Given the description of an element on the screen output the (x, y) to click on. 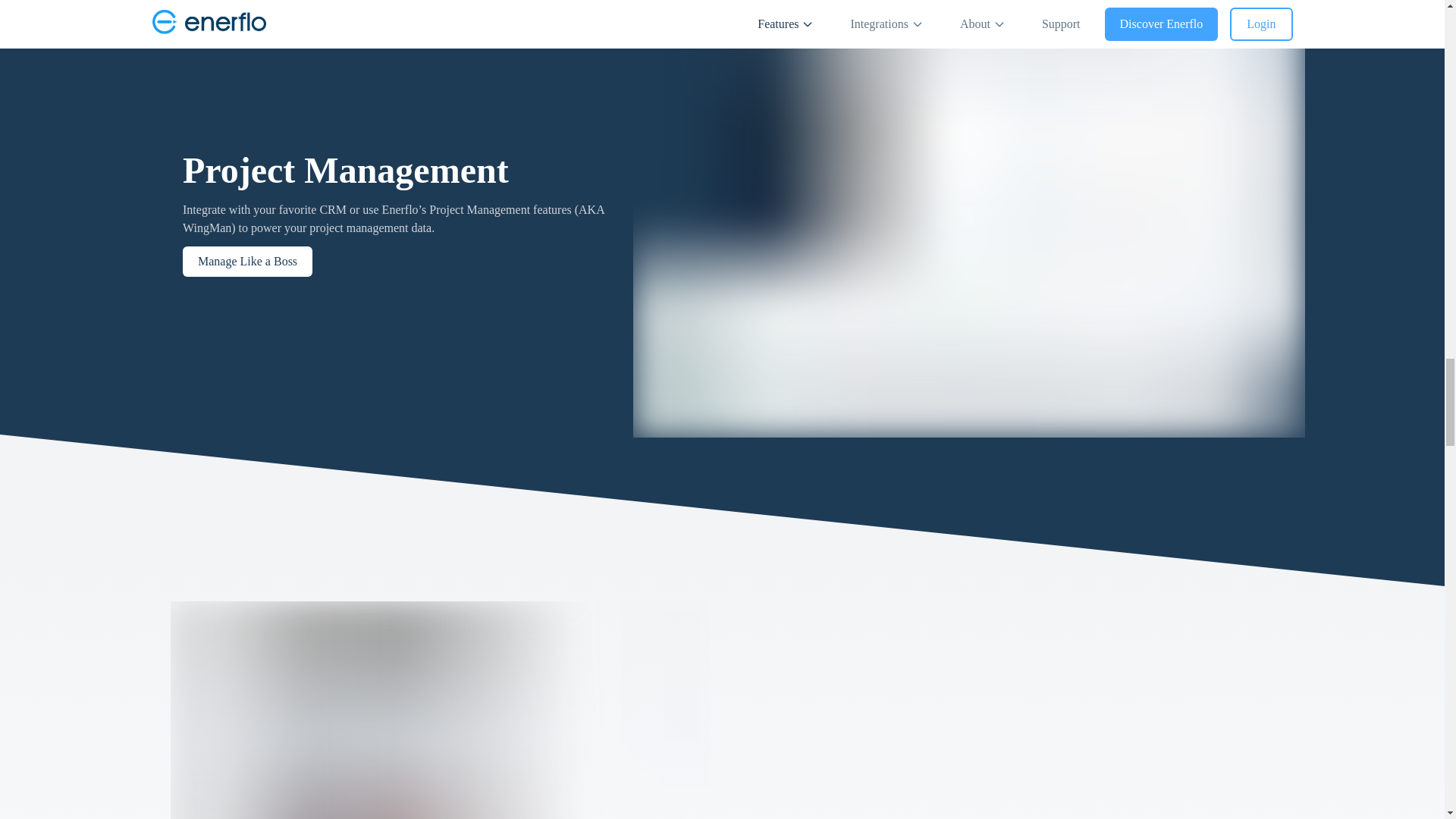
Manage Like a Boss (246, 261)
